Given the description of an element on the screen output the (x, y) to click on. 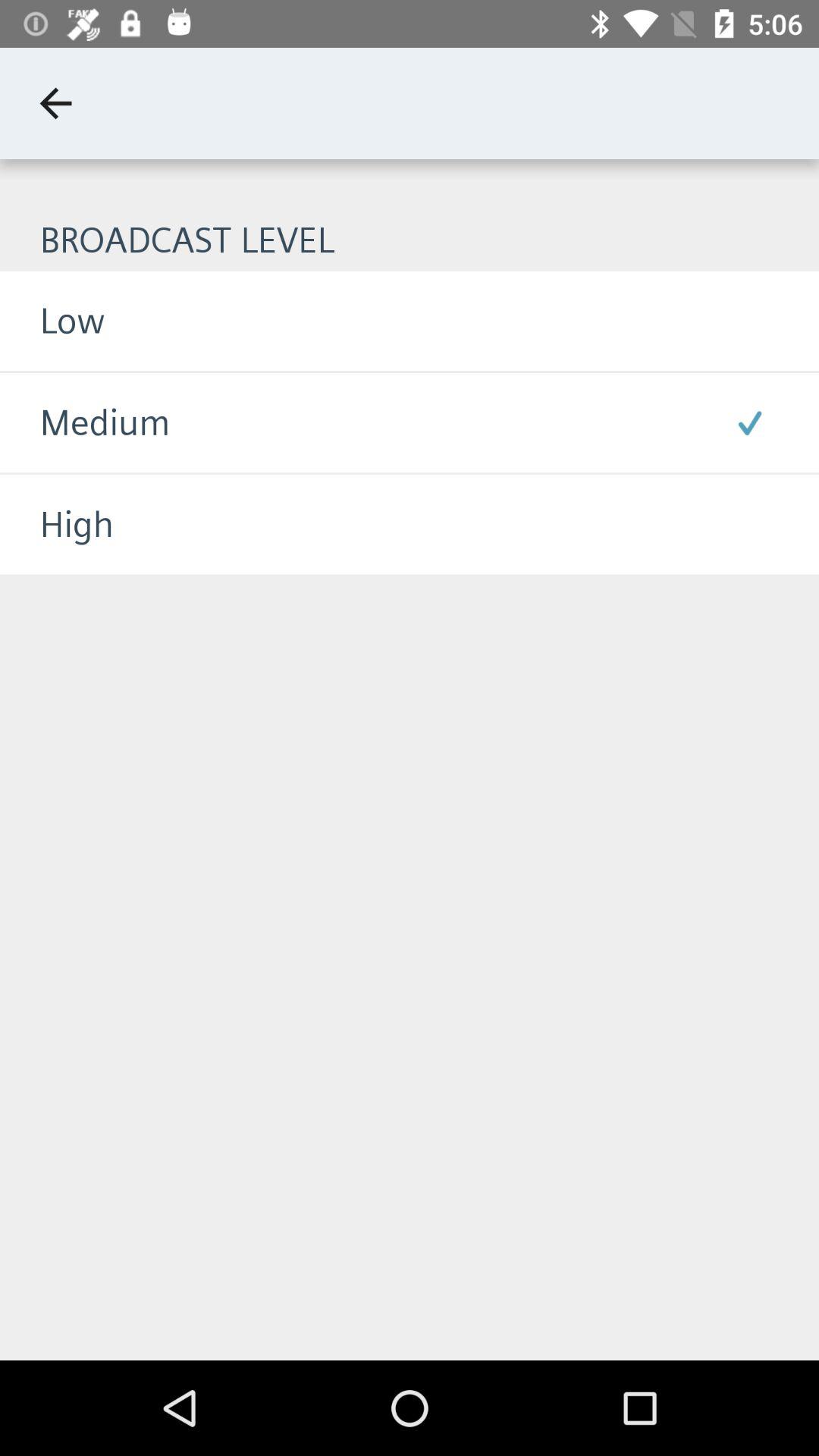
press the low item (52, 320)
